Given the description of an element on the screen output the (x, y) to click on. 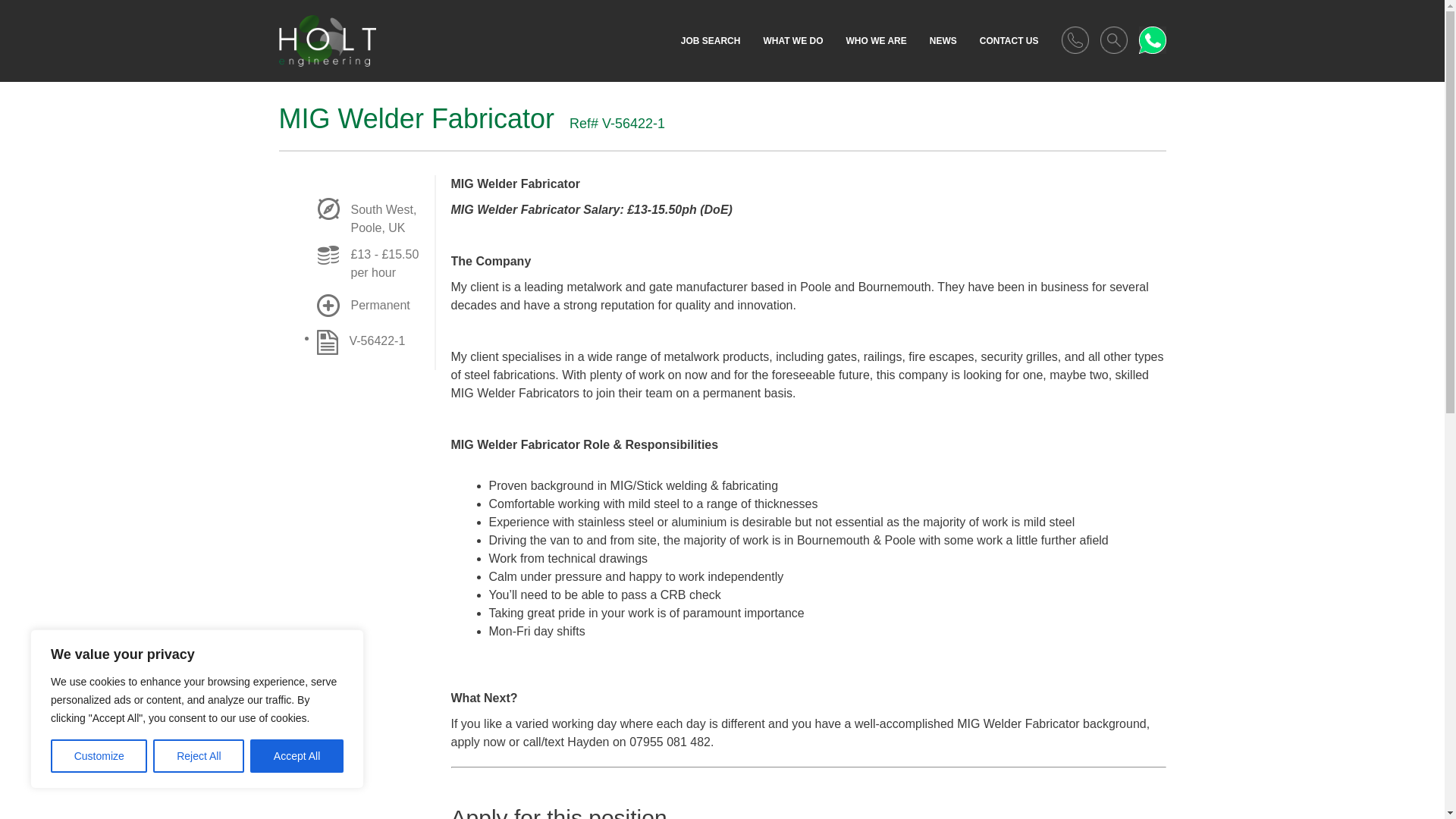
Customize (98, 756)
Accept All (296, 756)
CONTACT US (1008, 40)
WHAT WE DO (792, 40)
WHO WE ARE (875, 40)
JOB SEARCH (710, 40)
Reject All (198, 756)
